Given the description of an element on the screen output the (x, y) to click on. 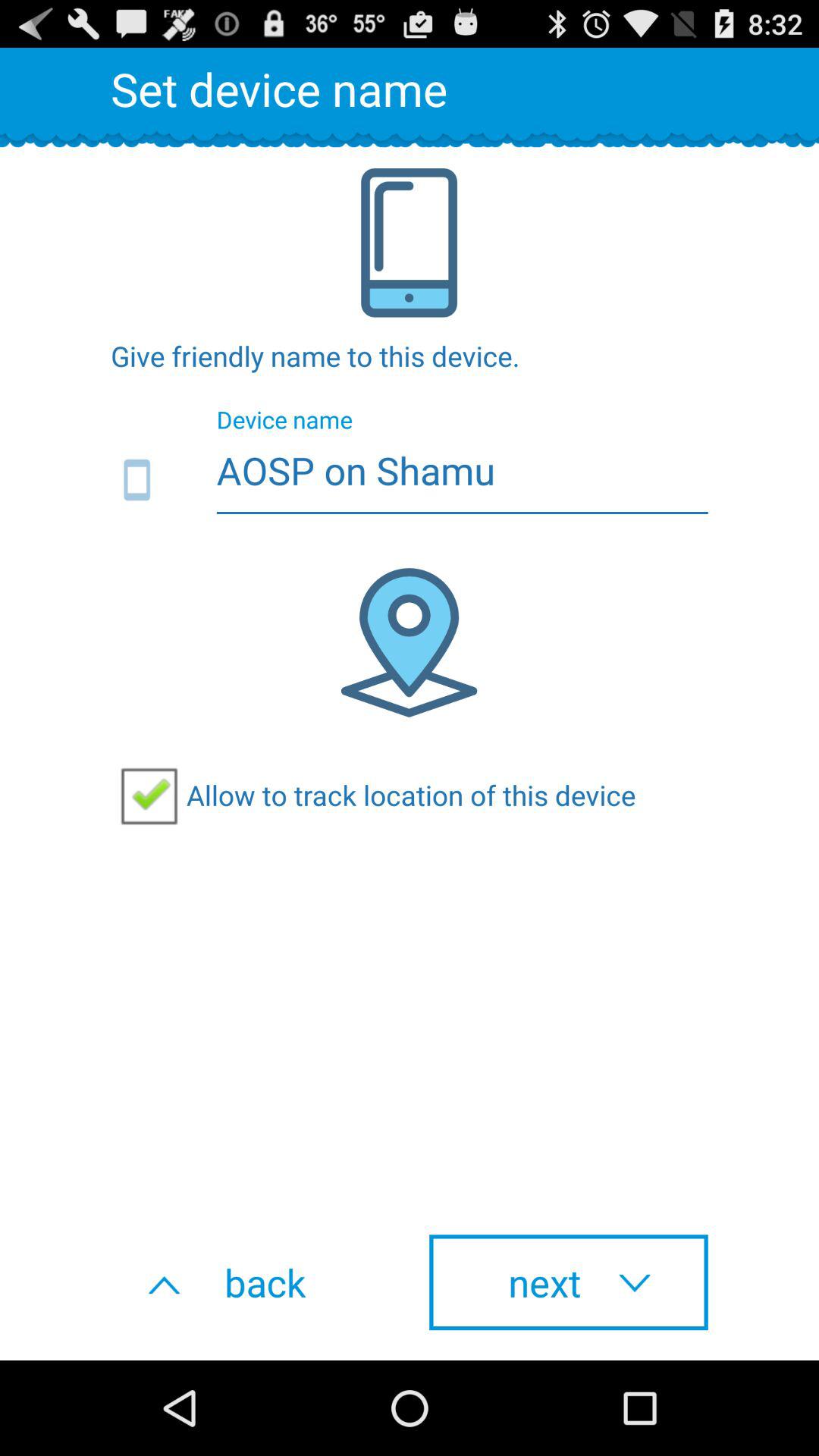
turn off the back button (249, 1282)
